Given the description of an element on the screen output the (x, y) to click on. 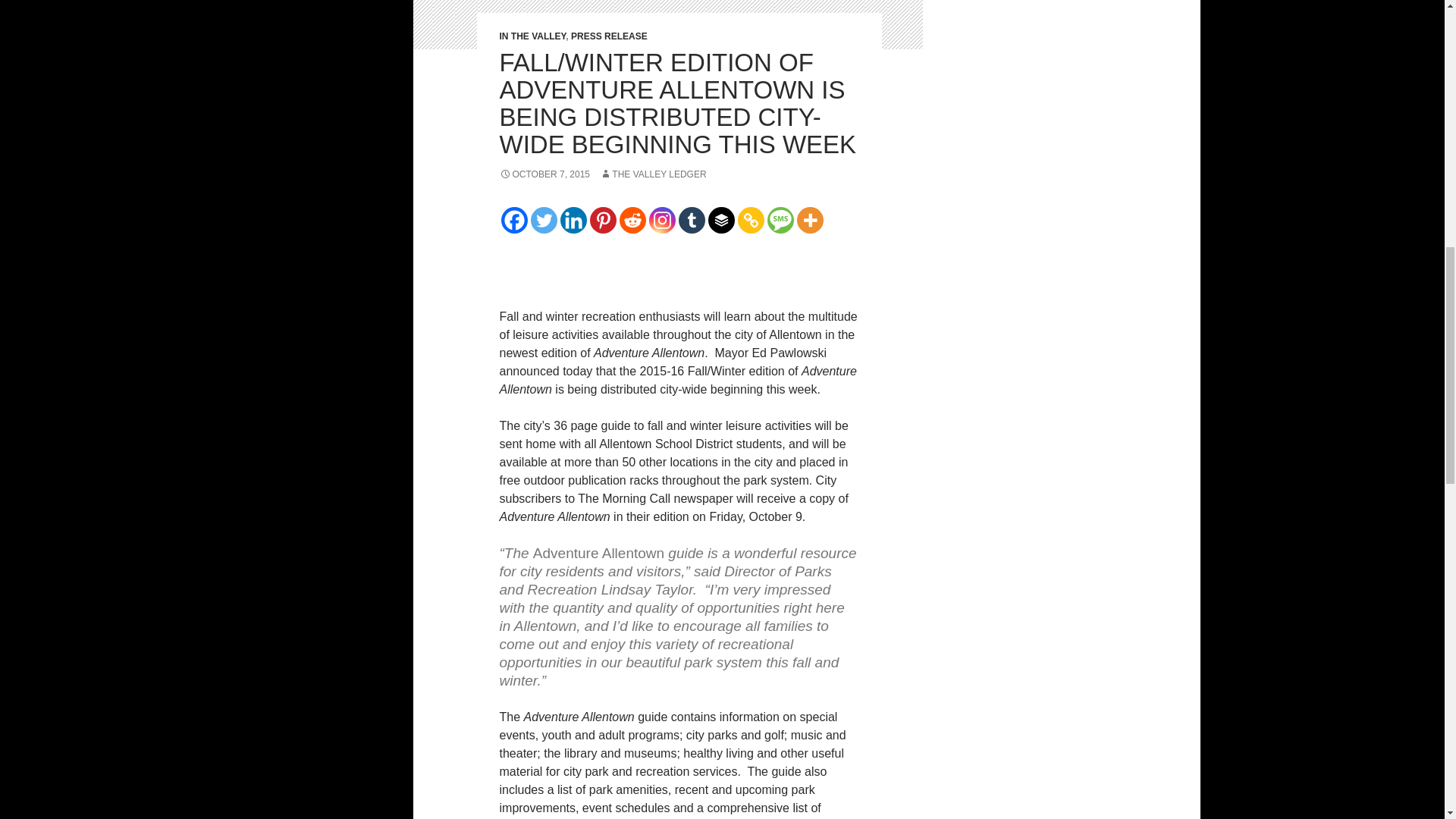
Linkedin (572, 220)
Instagram (662, 220)
IN THE VALLEY (532, 36)
Buffer (721, 220)
SMS (780, 220)
Copy Link (749, 220)
More (809, 220)
Twitter (544, 220)
Reddit (631, 220)
PRESS RELEASE (608, 36)
